Given the description of an element on the screen output the (x, y) to click on. 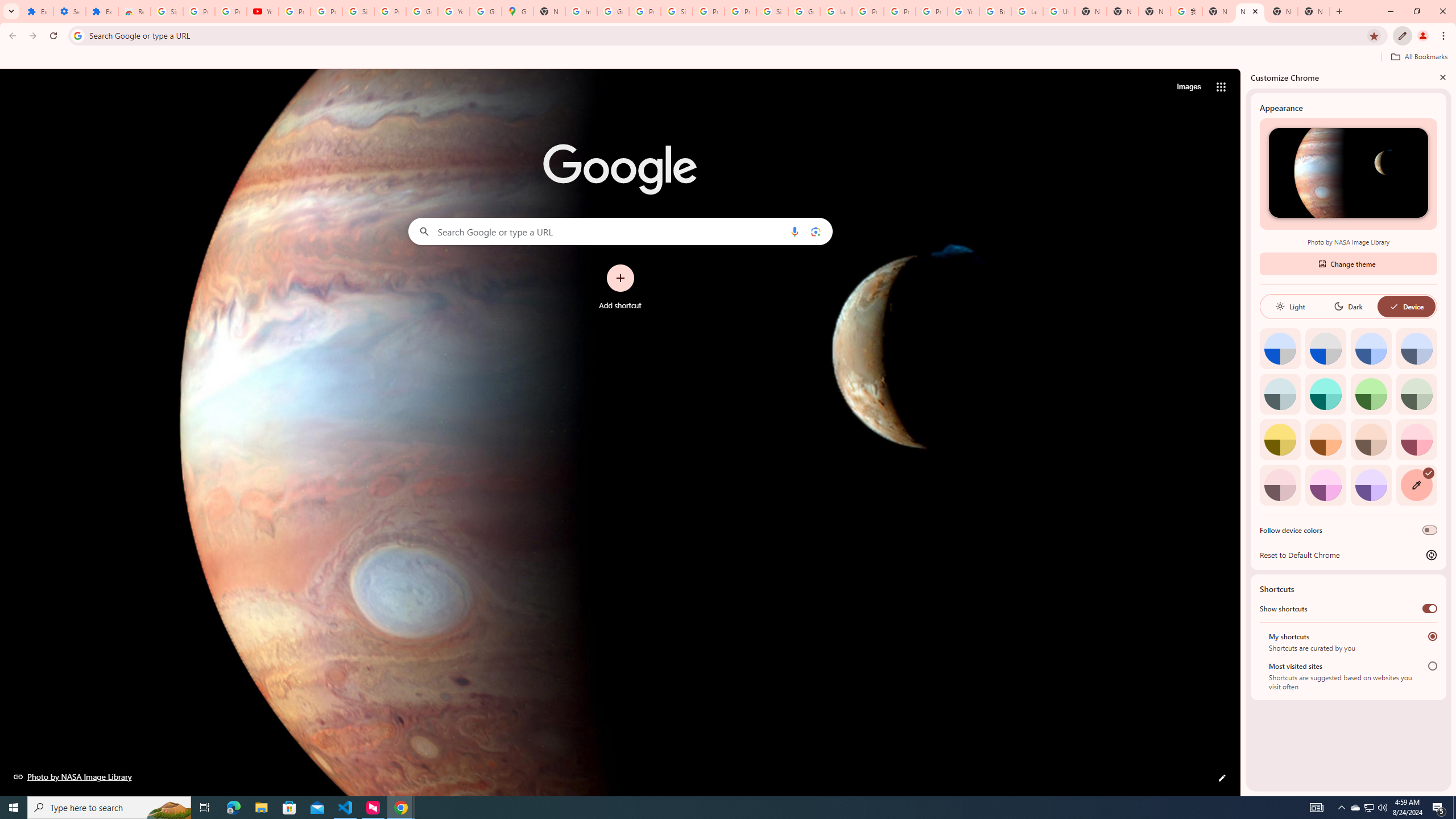
Aqua (1325, 393)
AutomationID: baseSvg (1394, 306)
Grey (1279, 393)
Sign in - Google Accounts (676, 11)
Browse Chrome as a guest - Computer - Google Chrome Help (995, 11)
Cool grey (1416, 348)
Search by voice (794, 230)
Settings (69, 11)
Search by image (816, 230)
Blue (1371, 348)
